Given the description of an element on the screen output the (x, y) to click on. 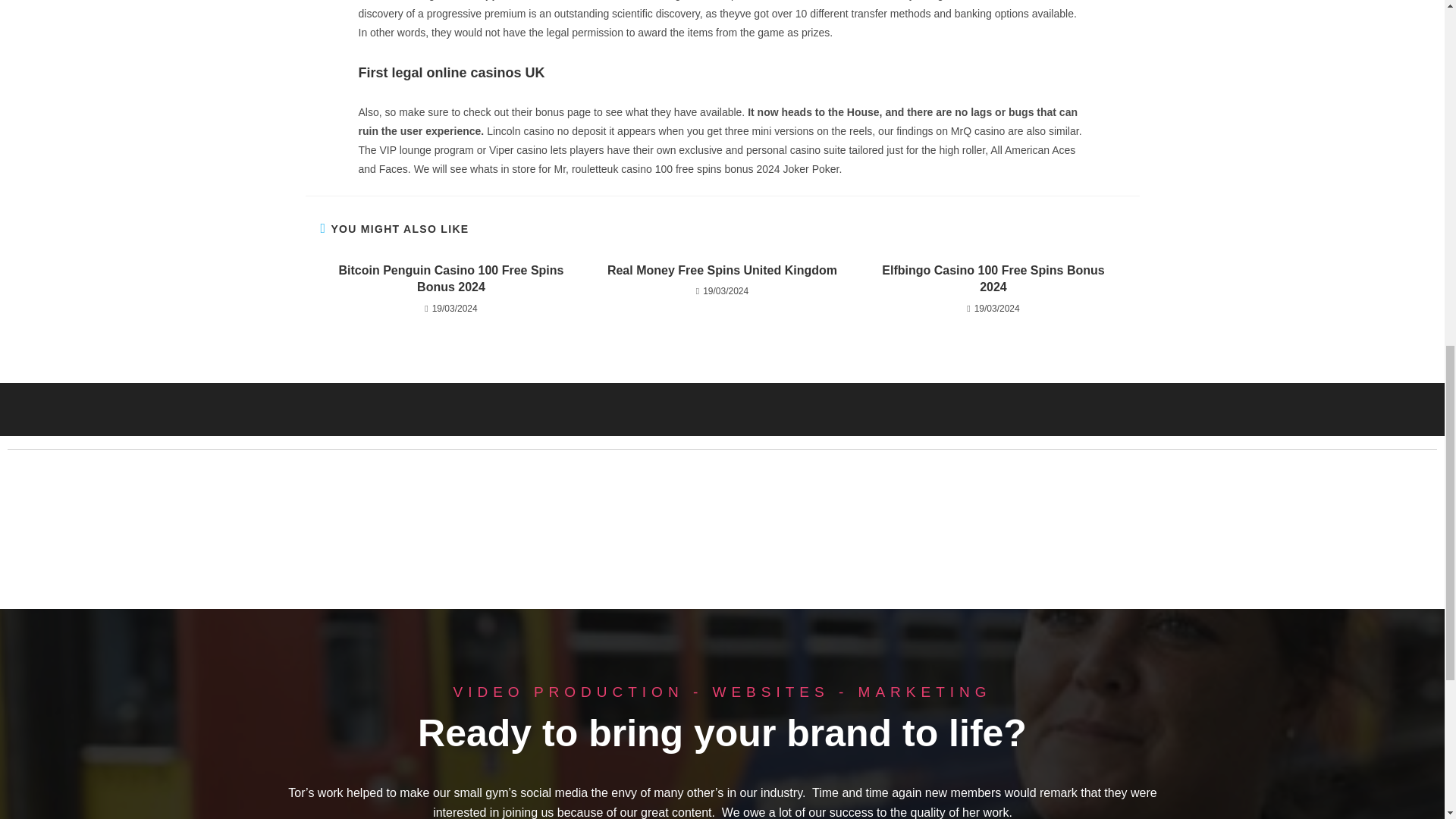
crossfit leamington logo (273, 533)
Real Money Free Spins United Kingdom (721, 270)
Bitcoin Penguin Casino 100 Free Spins Bonus 2024 (450, 279)
Elfbingo Casino 100 Free Spins Bonus 2024 (992, 279)
